Given the description of an element on the screen output the (x, y) to click on. 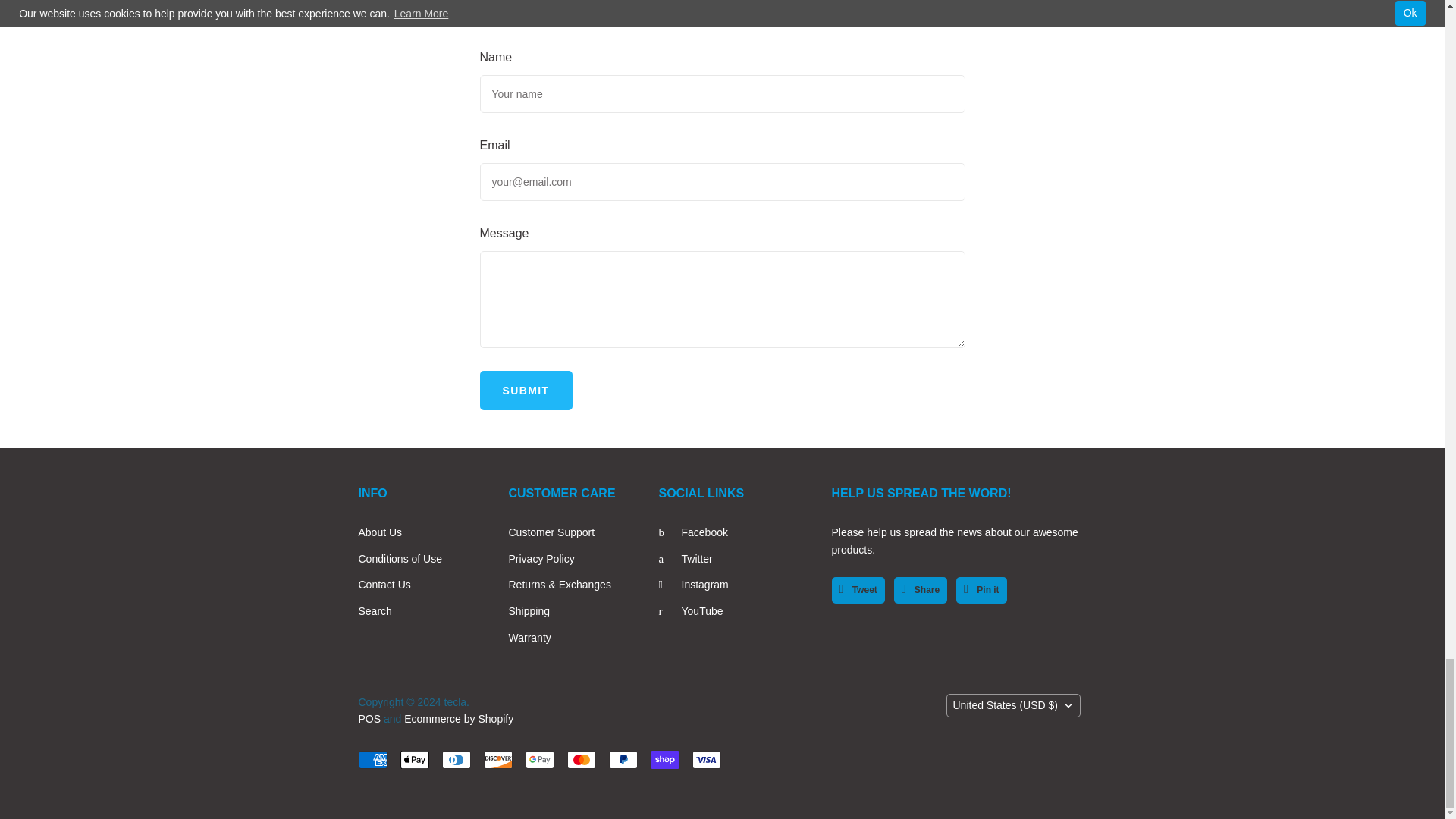
Submit (525, 390)
